Given the description of an element on the screen output the (x, y) to click on. 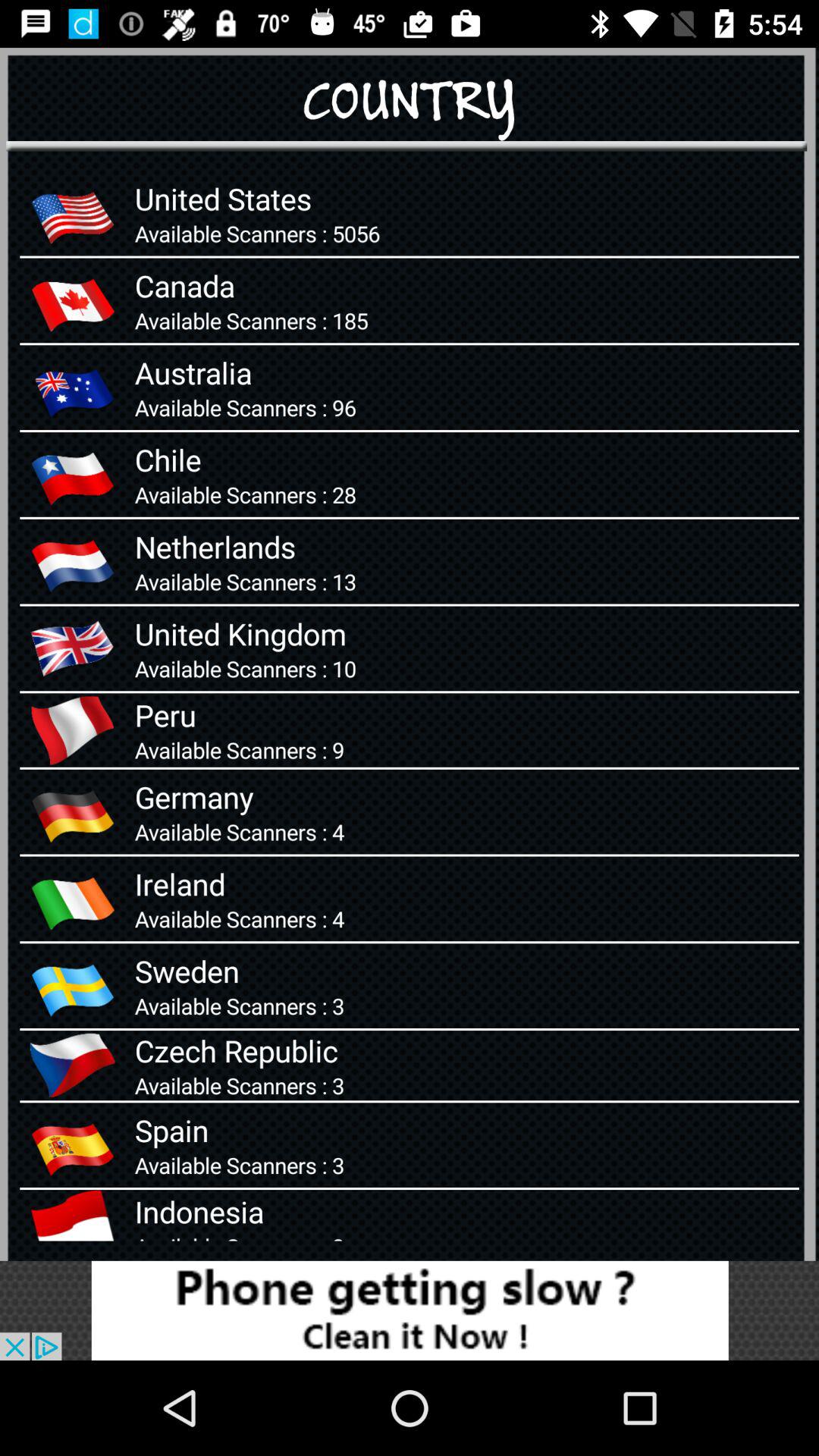
add the picture (409, 1310)
